Given the description of an element on the screen output the (x, y) to click on. 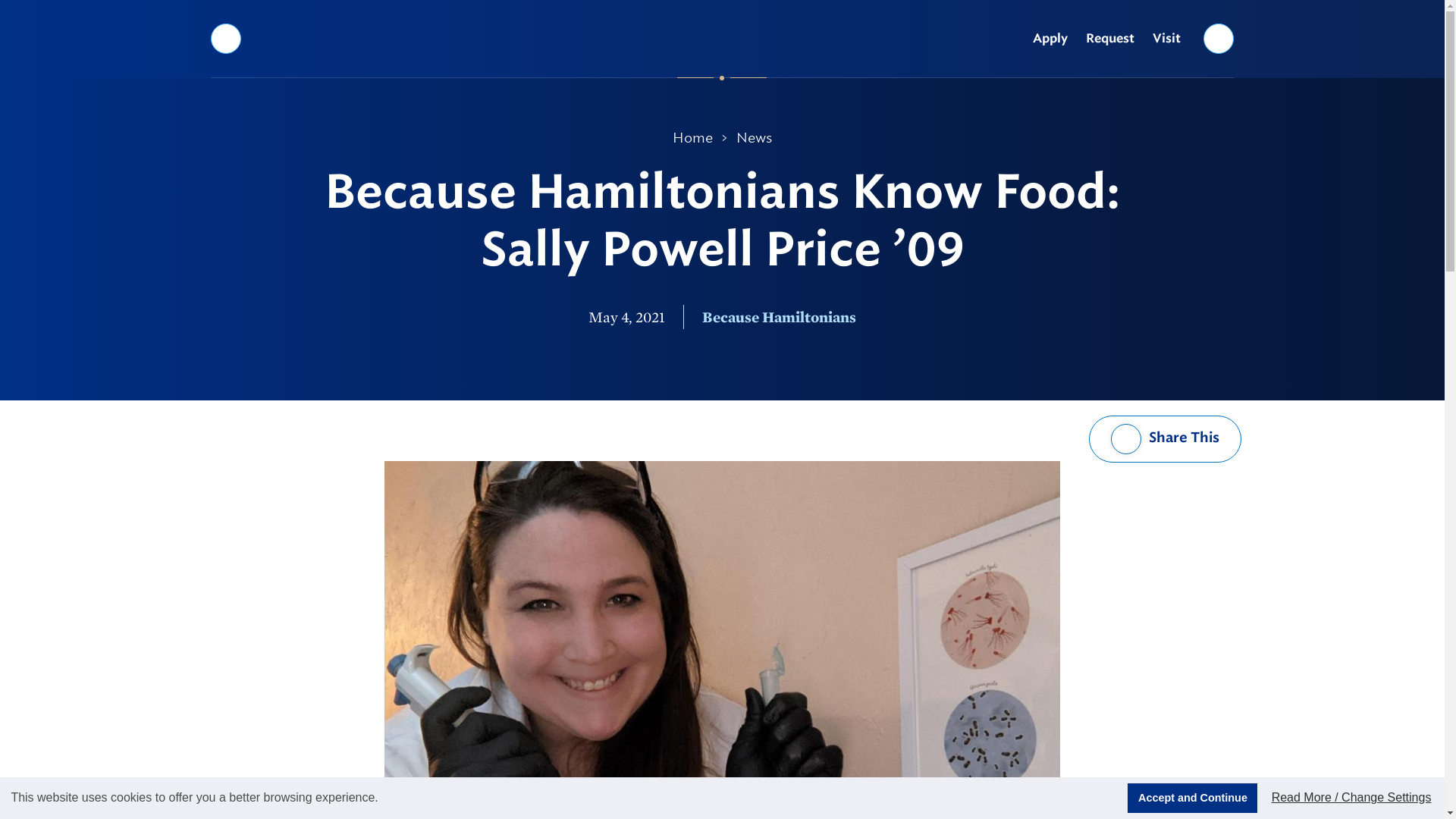
Menu (225, 38)
Home (692, 138)
Search (1218, 38)
Accept and Continue (1191, 797)
Share This (1165, 438)
Visit (1165, 38)
News (753, 138)
Apply (1050, 38)
Hamilton (721, 38)
Request (1109, 38)
Because Hamiltonians (778, 316)
